Given the description of an element on the screen output the (x, y) to click on. 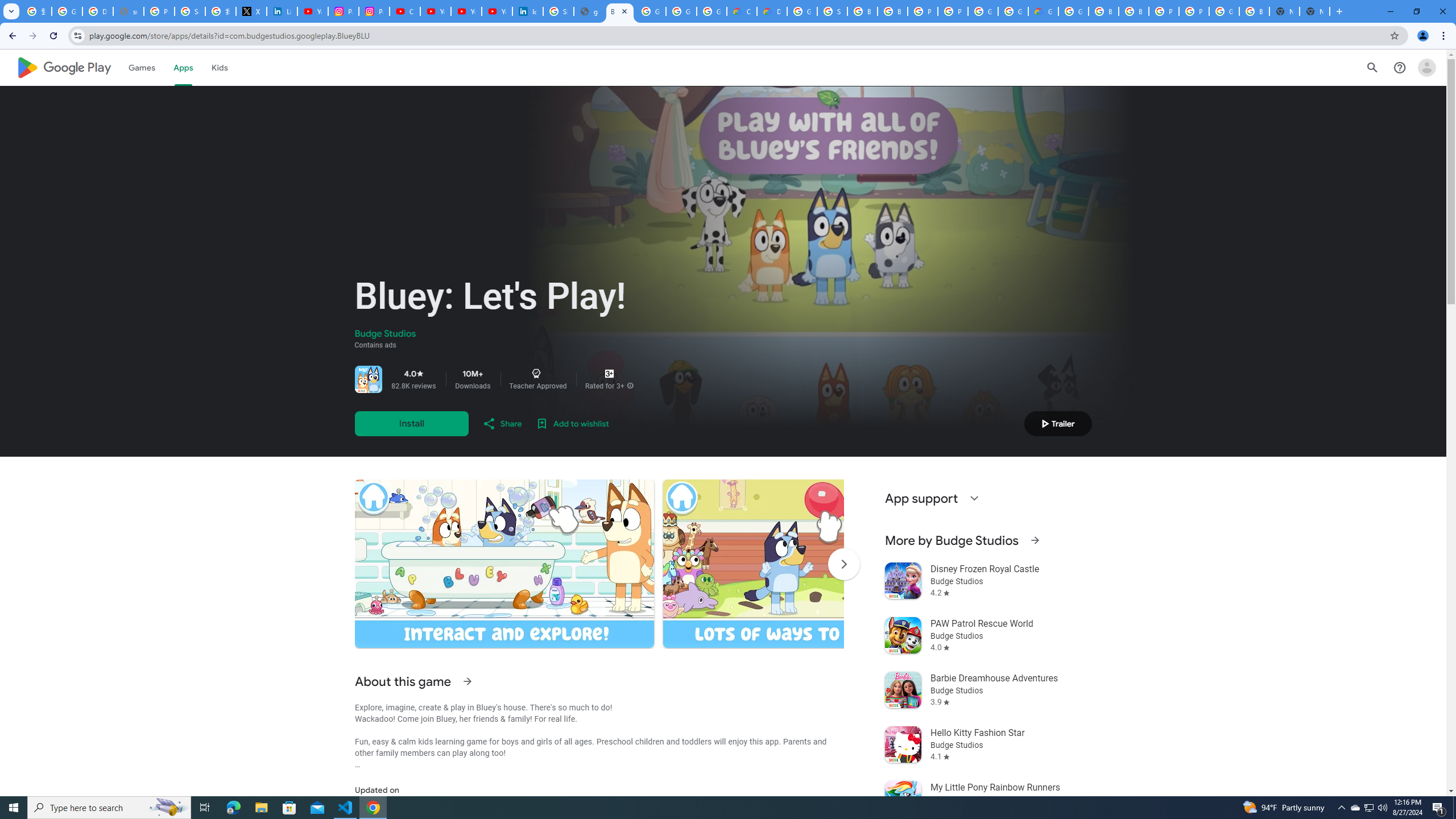
Share (502, 422)
X (251, 11)
Privacy Help Center - Policies Help (158, 11)
Screenshot image (812, 563)
Sign in - Google Accounts (189, 11)
Google Cloud Platform (1012, 11)
Google Cloud Estimate Summary (1042, 11)
YouTube Culture & Trends - YouTube Top 10, 2021 (465, 11)
Browse Chrome as a guest - Computer - Google Chrome Help (862, 11)
